Given the description of an element on the screen output the (x, y) to click on. 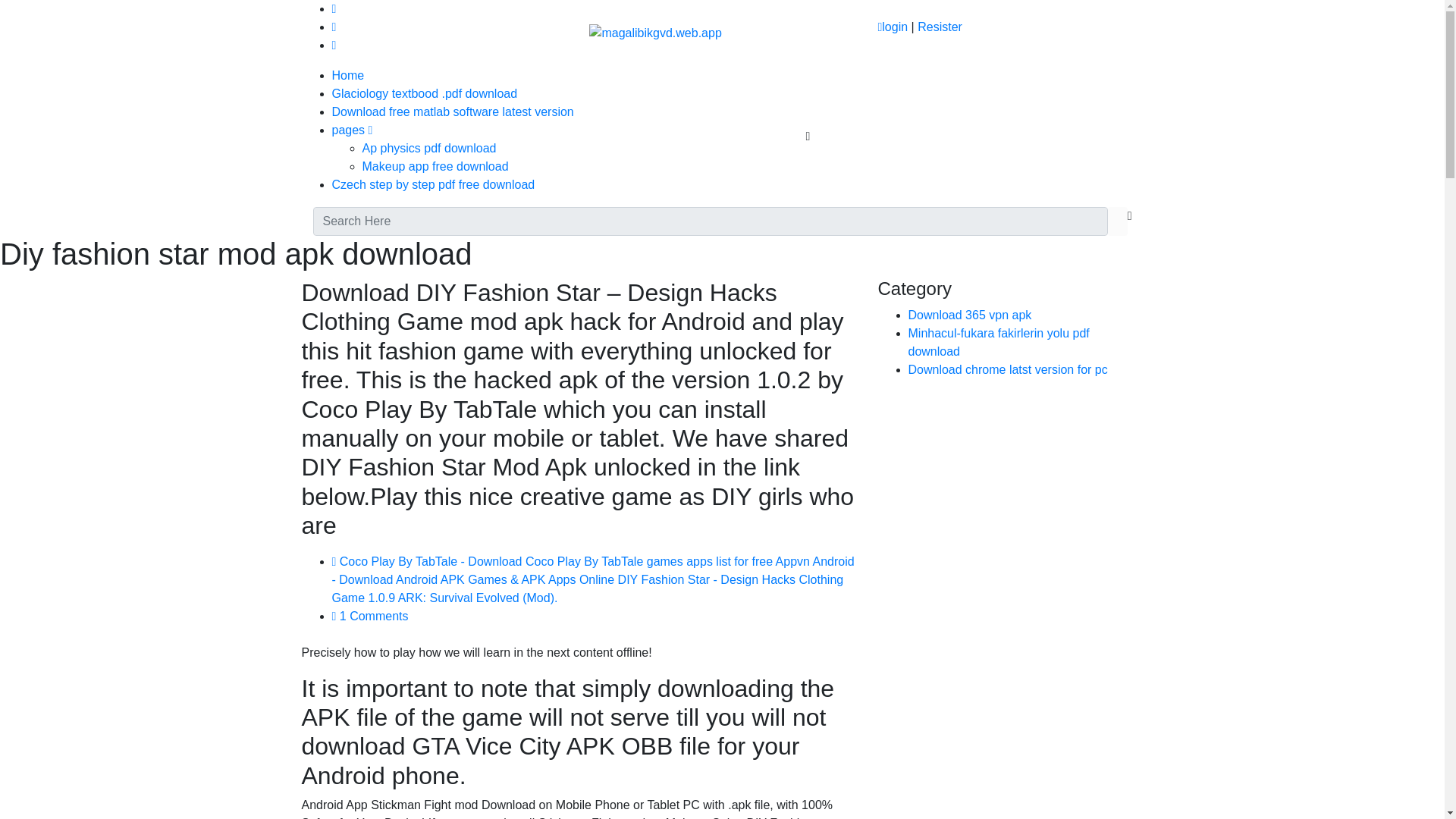
Czech step by step pdf free download (433, 184)
Home (348, 74)
login (892, 26)
pages (351, 129)
Glaciology textbood .pdf download (424, 92)
1 Comments (370, 615)
Ap physics pdf download (429, 147)
Resister (939, 26)
Download free matlab software latest version (452, 111)
Makeup app free download (435, 165)
